Given the description of an element on the screen output the (x, y) to click on. 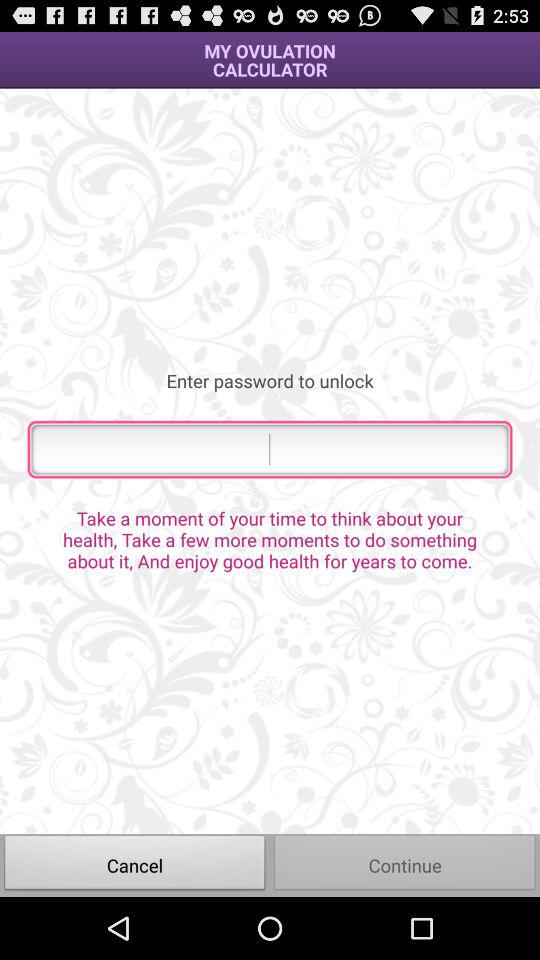
choose the item below the take a moment (135, 864)
